Given the description of an element on the screen output the (x, y) to click on. 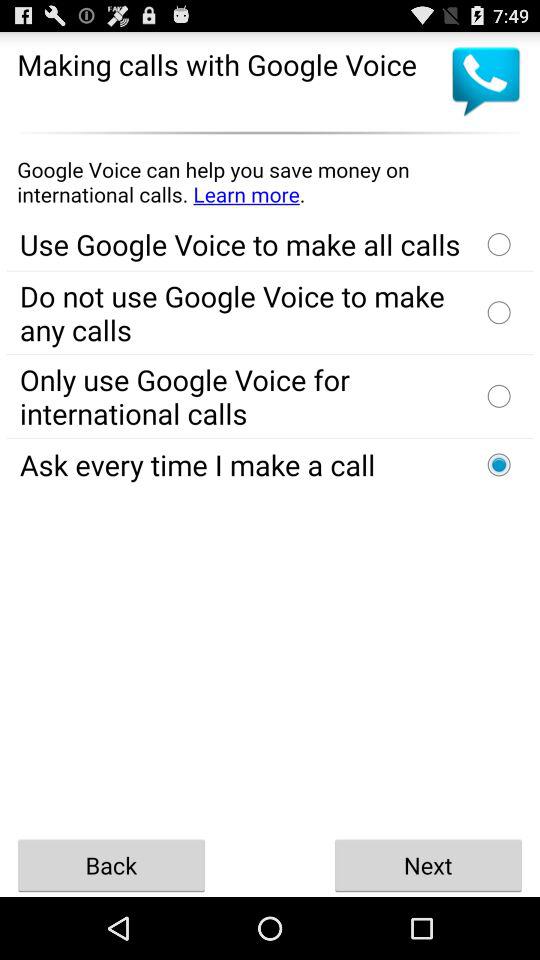
option button (499, 396)
